Given the description of an element on the screen output the (x, y) to click on. 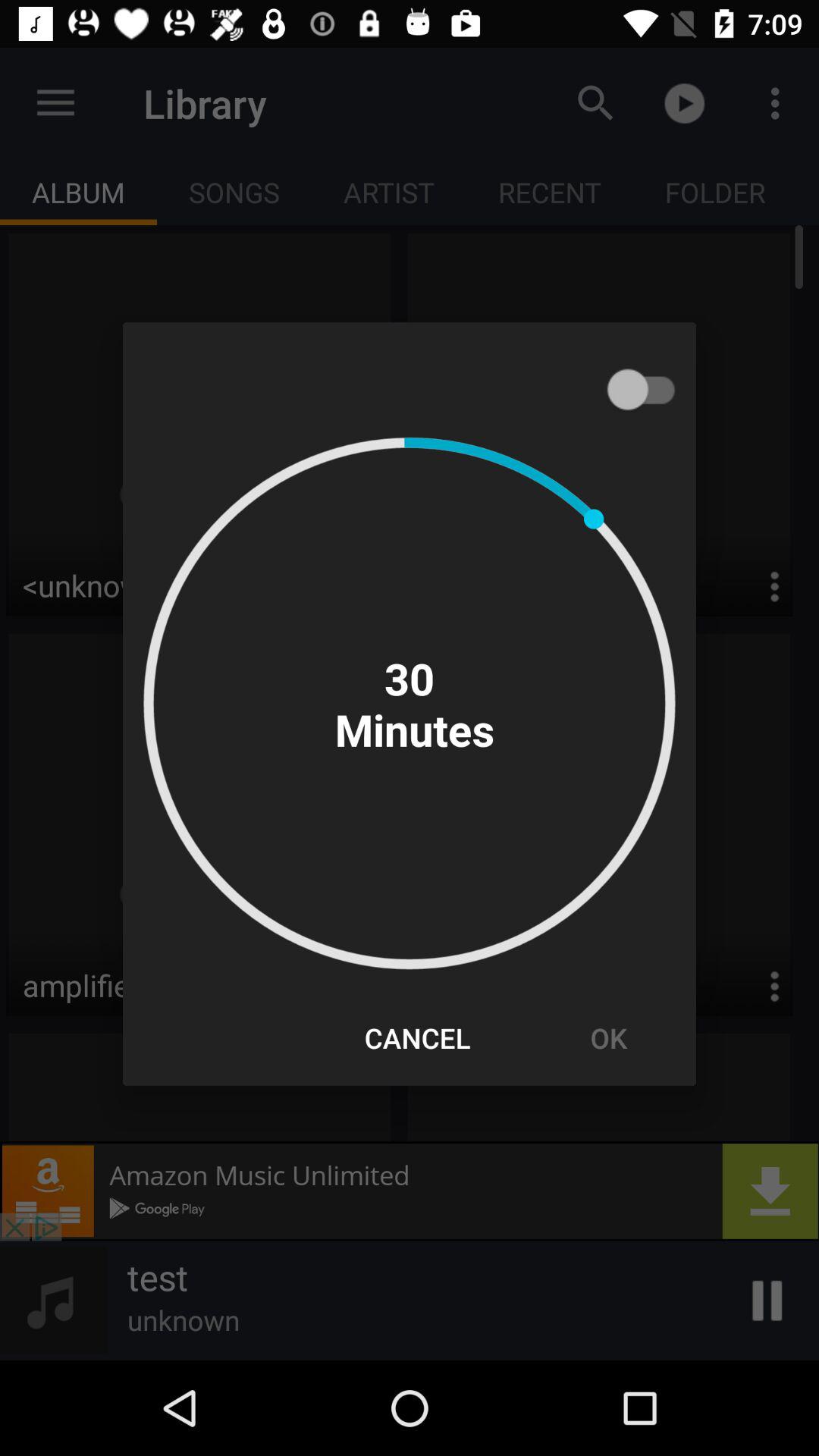
toggle timer option (648, 389)
